Given the description of an element on the screen output the (x, y) to click on. 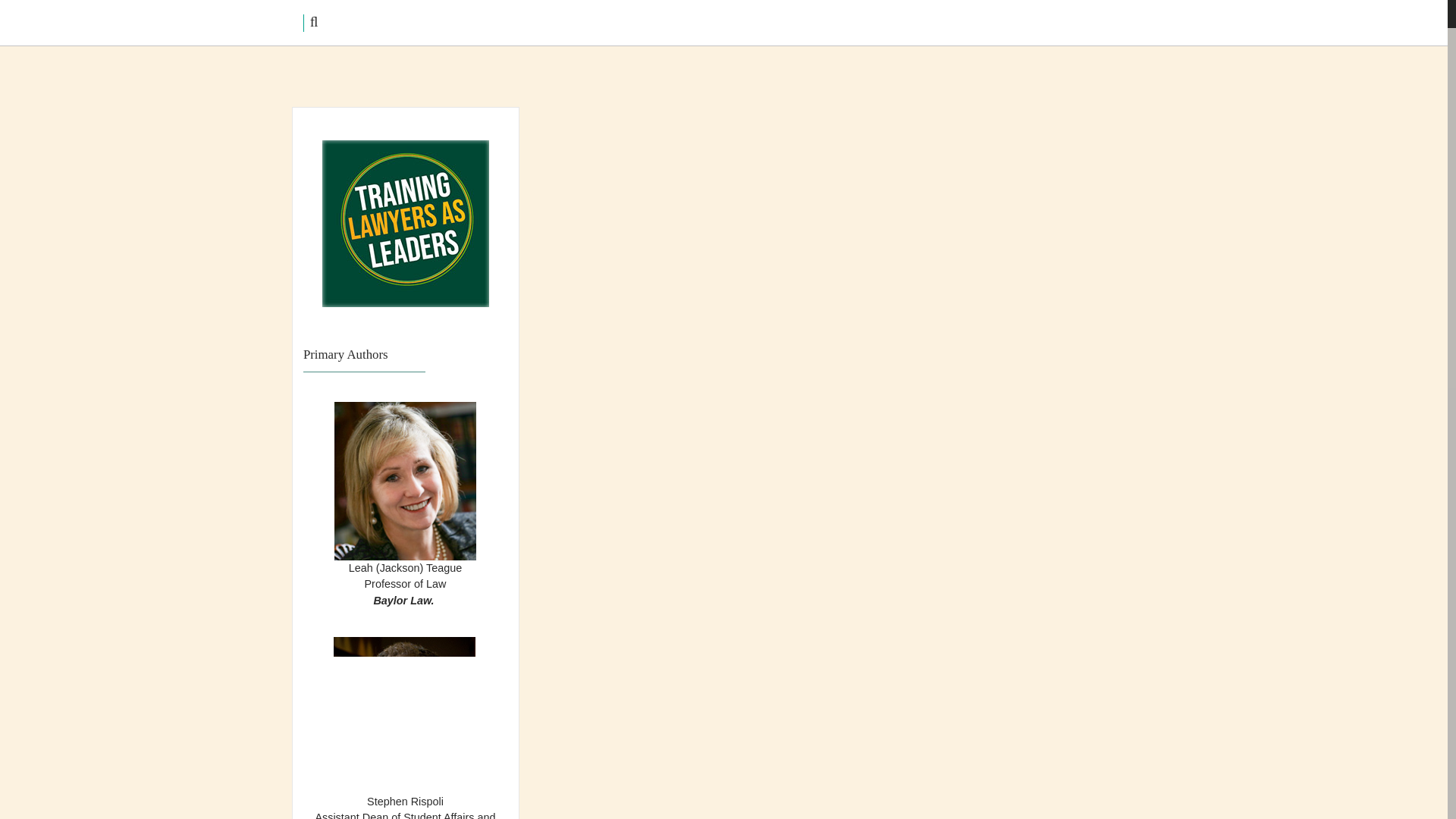
Training Lawyers as Leaders (376, 151)
